Given the description of an element on the screen output the (x, y) to click on. 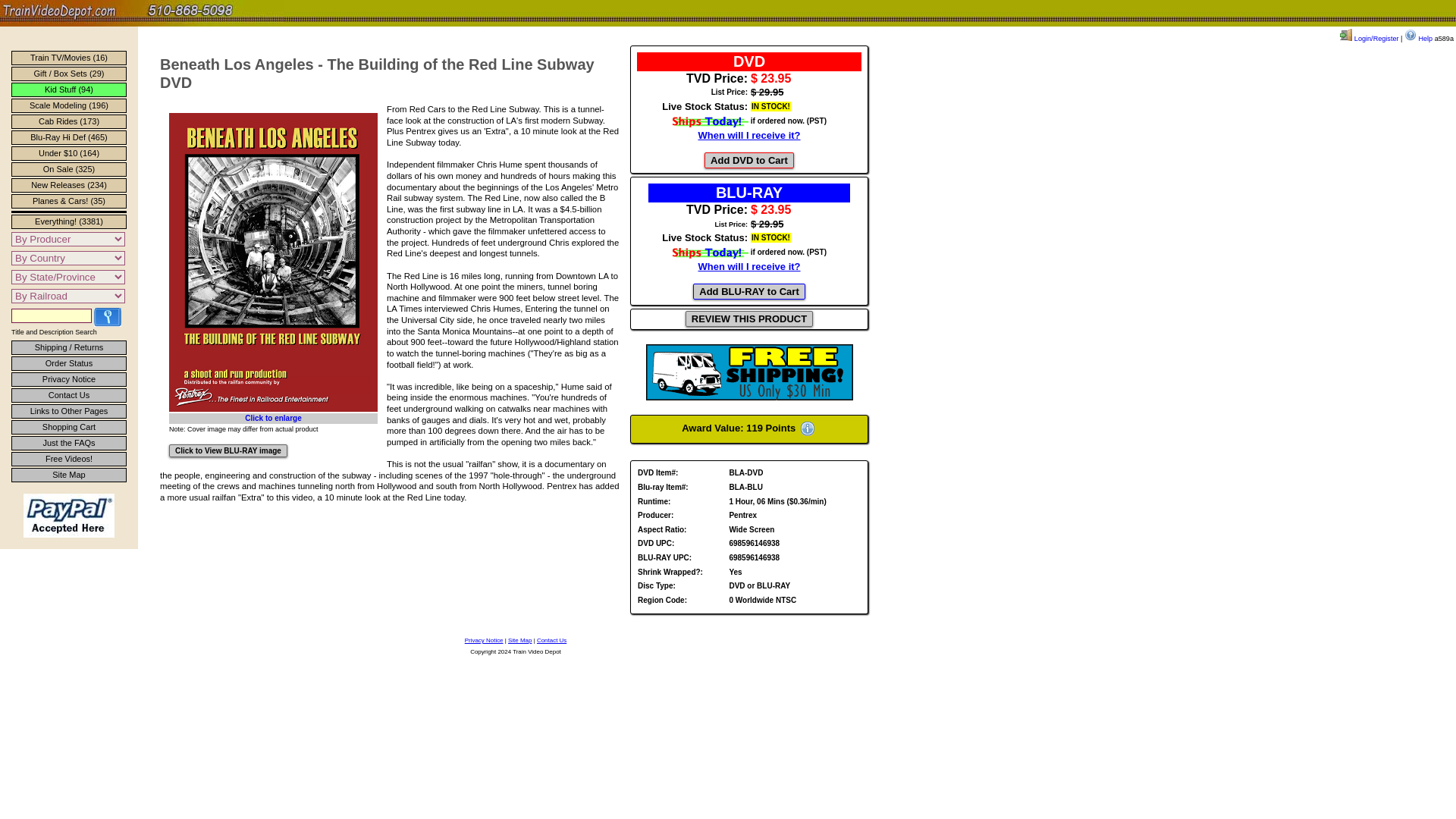
When will I receive it? (748, 134)
When will I receive it? (748, 266)
Click to enlarge (272, 419)
Site Map (68, 474)
Order Status (68, 363)
Links to Other Pages (68, 411)
Click here to see all DVD's that are currently on sale (68, 169)
Contact Us (551, 640)
Click here to see new releases. (68, 185)
Free Videos! (68, 459)
Privacy Notice (483, 640)
Click to View BLU-RAY image (227, 450)
DVD's for Kids (68, 89)
Gift and Box Set DVD's (68, 73)
Add DVD to Cart (748, 160)
